Given the description of an element on the screen output the (x, y) to click on. 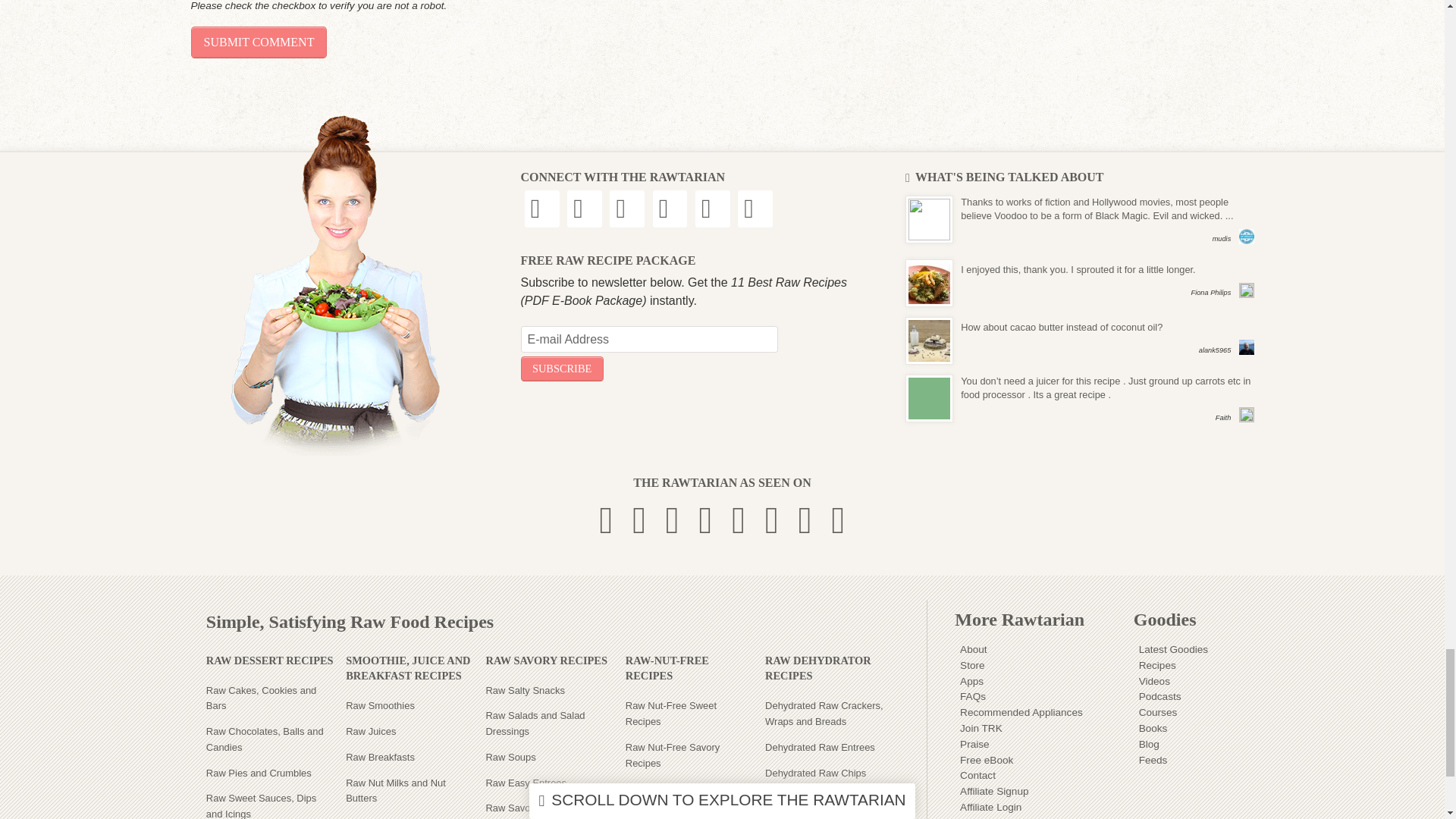
Submit Comment (258, 42)
Subscribe (560, 368)
